Given the description of an element on the screen output the (x, y) to click on. 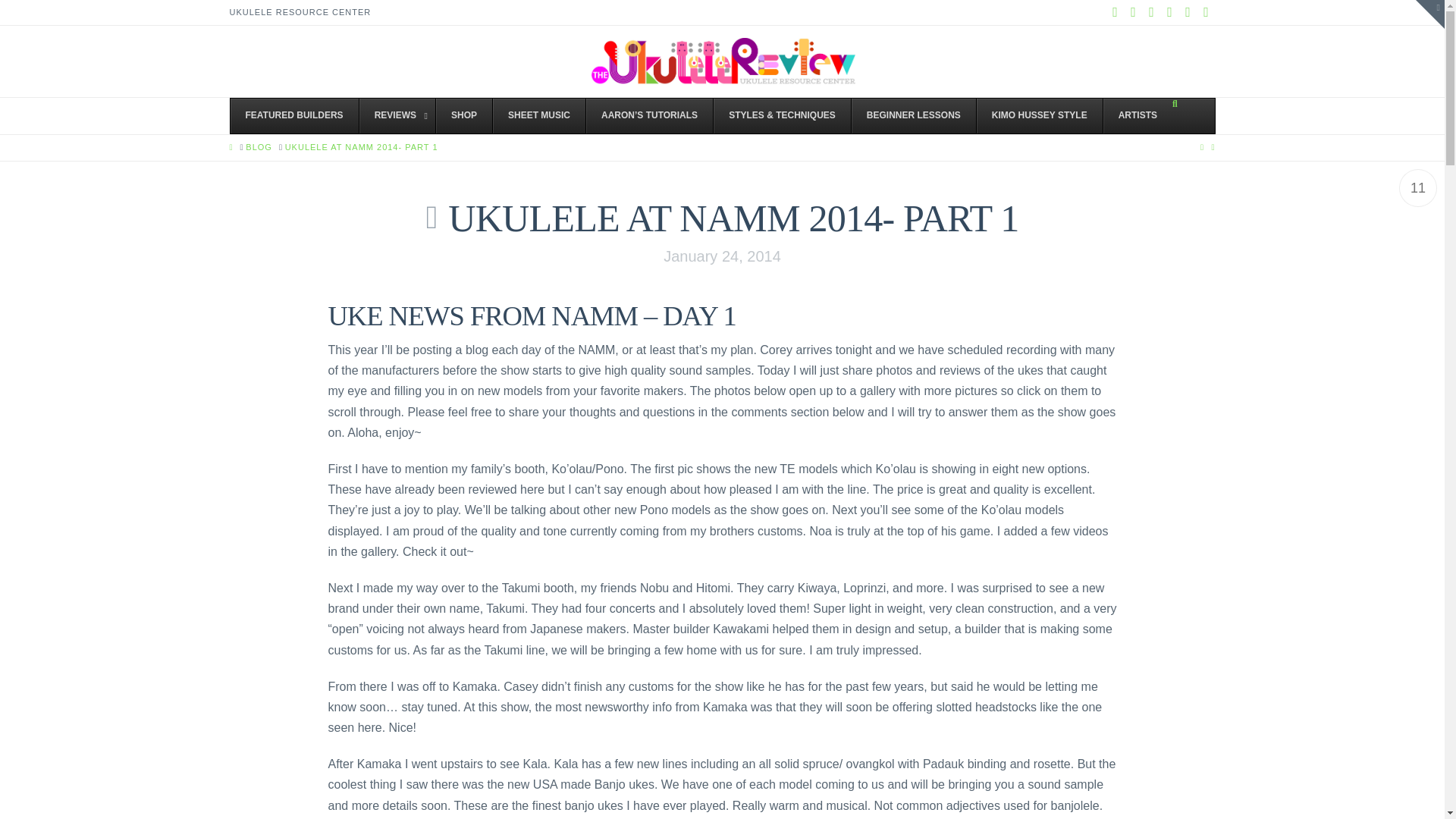
SHEET MUSIC (538, 115)
REVIEWS (396, 115)
BLOG (259, 147)
You Are Here (361, 147)
BEGINNER LESSONS (912, 115)
FEATURED BUILDERS (294, 115)
KIMO HUSSEY STYLE (1038, 115)
11 (1418, 187)
ARTISTS (1137, 115)
UKULELE AT NAMM 2014- PART 1 (361, 147)
